Given the description of an element on the screen output the (x, y) to click on. 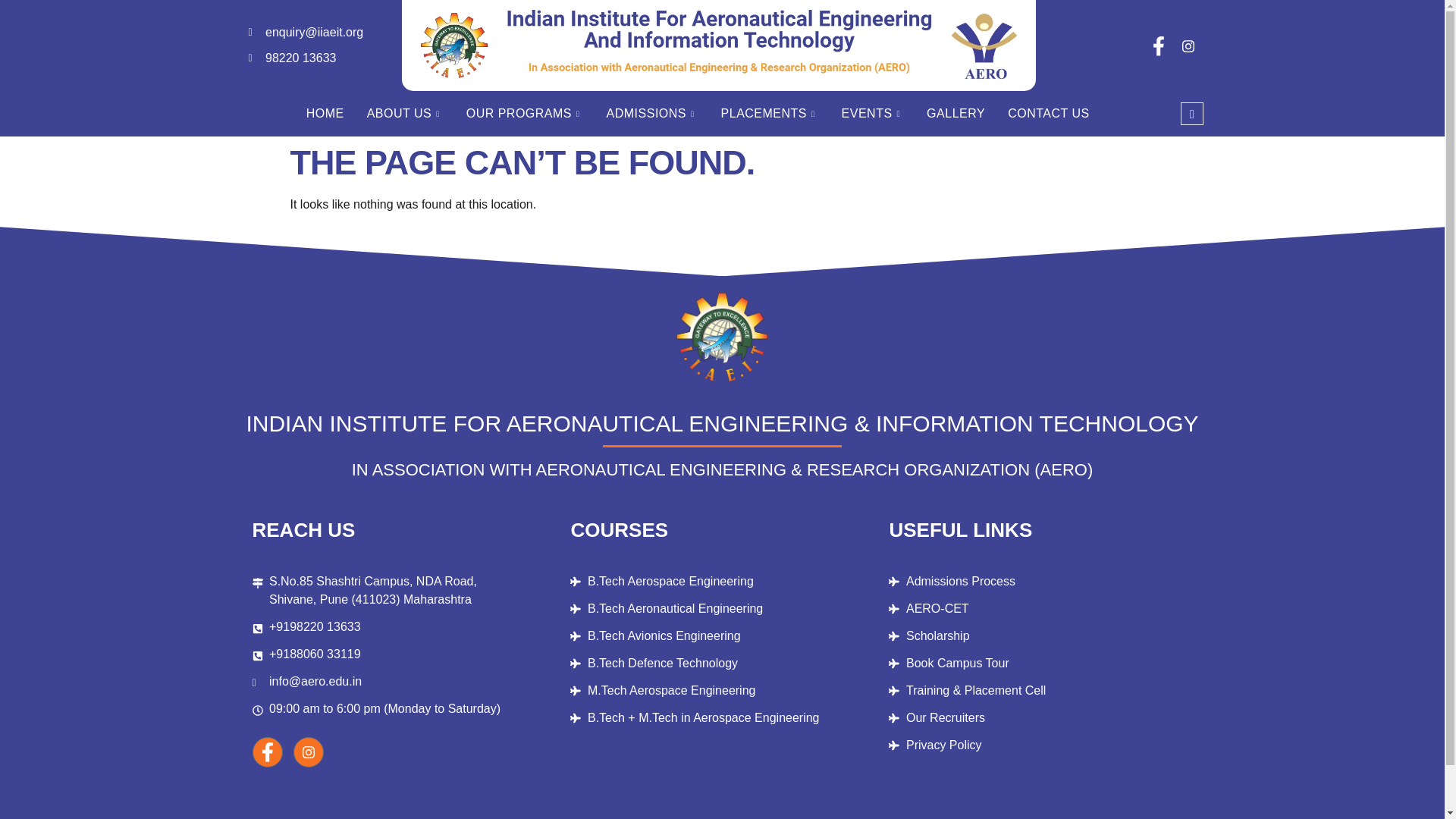
GALLERY (955, 113)
EVENTS (872, 113)
CONTACT US (1047, 113)
HOME (325, 113)
OUR PROGRAMS (524, 113)
ADMISSIONS (652, 113)
PLACEMENTS (769, 113)
98220 13633 (319, 58)
ABOUT US (404, 113)
